Given the description of an element on the screen output the (x, y) to click on. 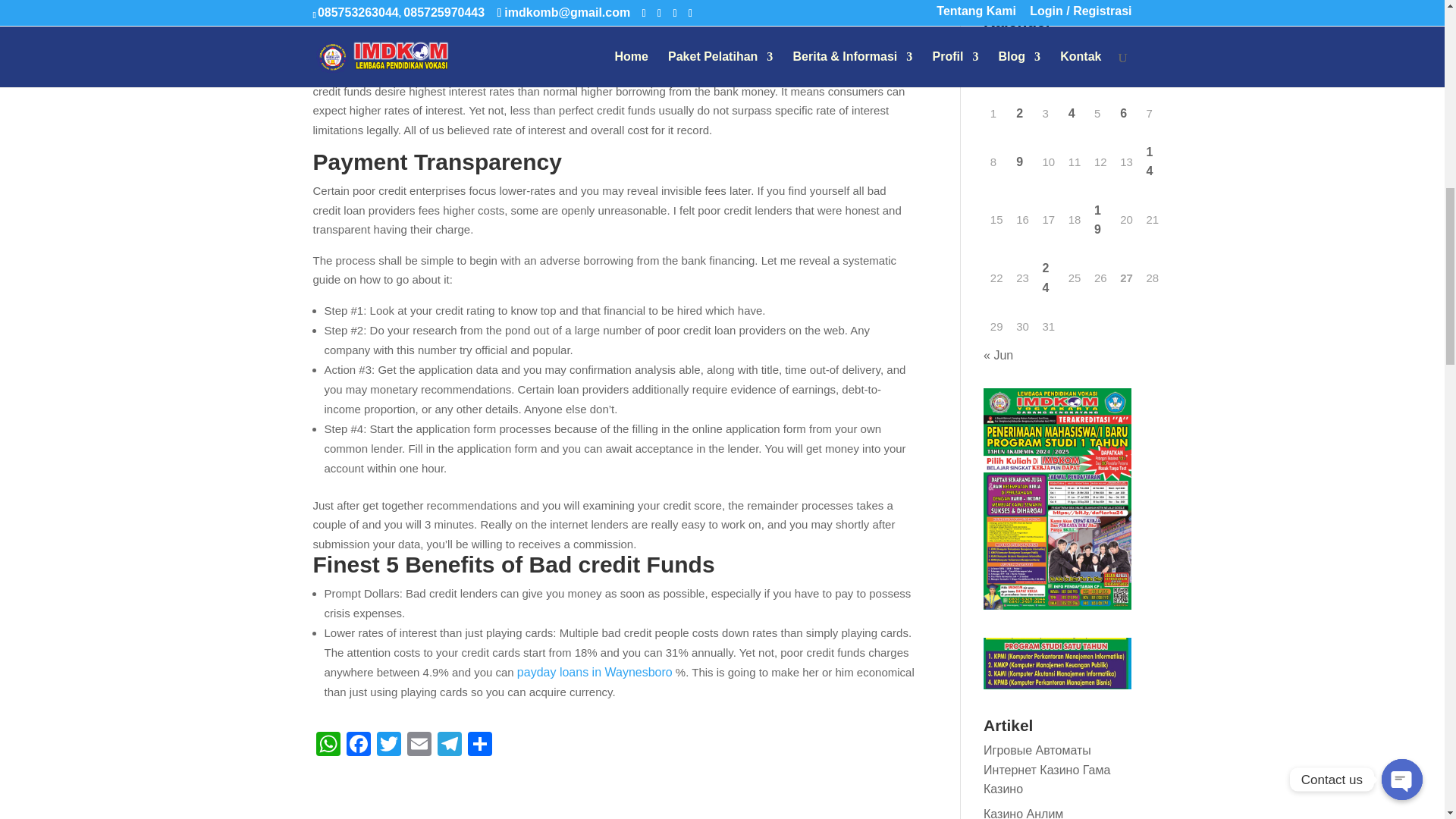
Twitter (387, 746)
Email (418, 746)
Telegram (448, 746)
WhatsApp (327, 746)
Facebook (357, 746)
